Given the description of an element on the screen output the (x, y) to click on. 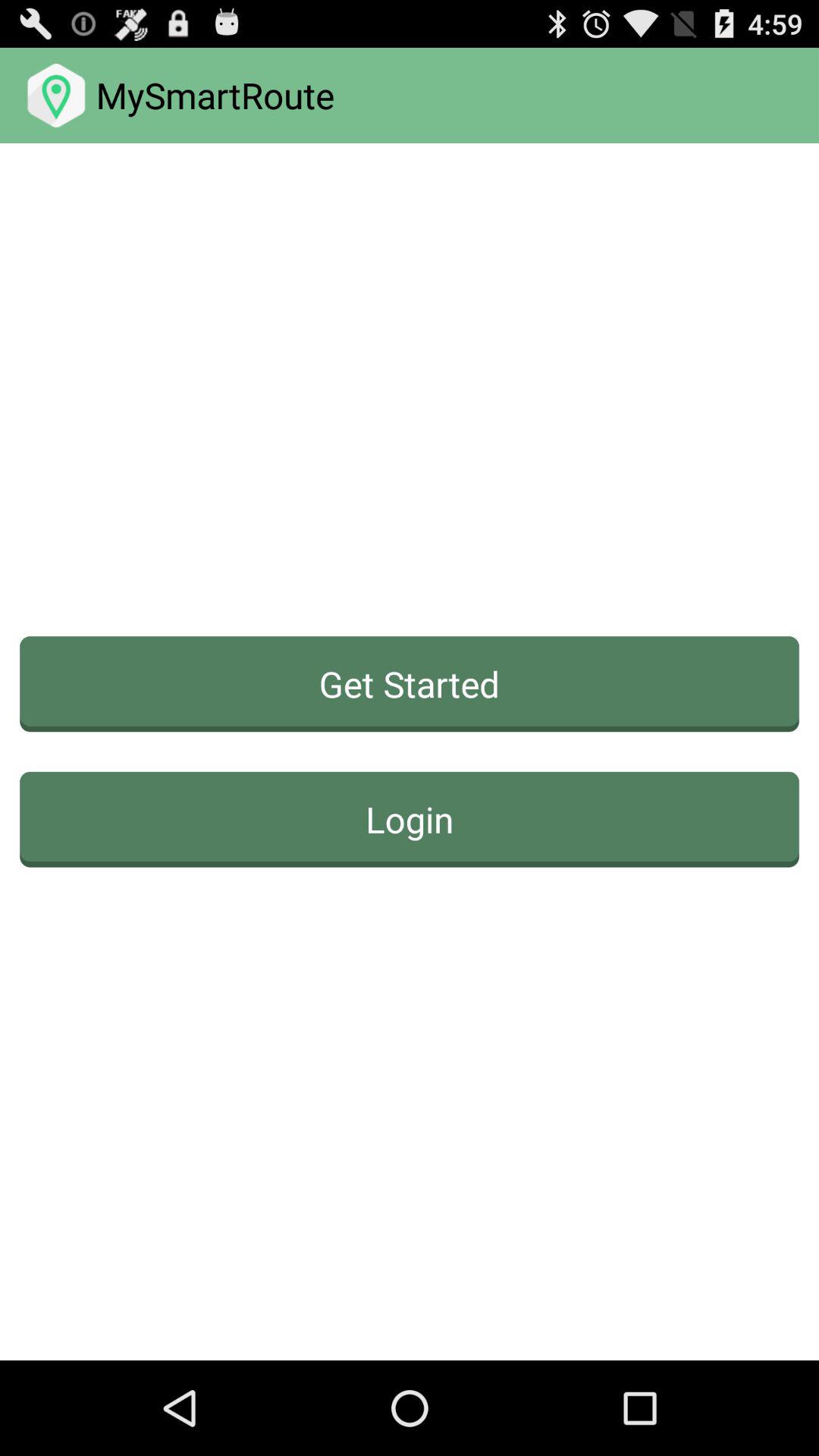
press the item above login icon (409, 683)
